Given the description of an element on the screen output the (x, y) to click on. 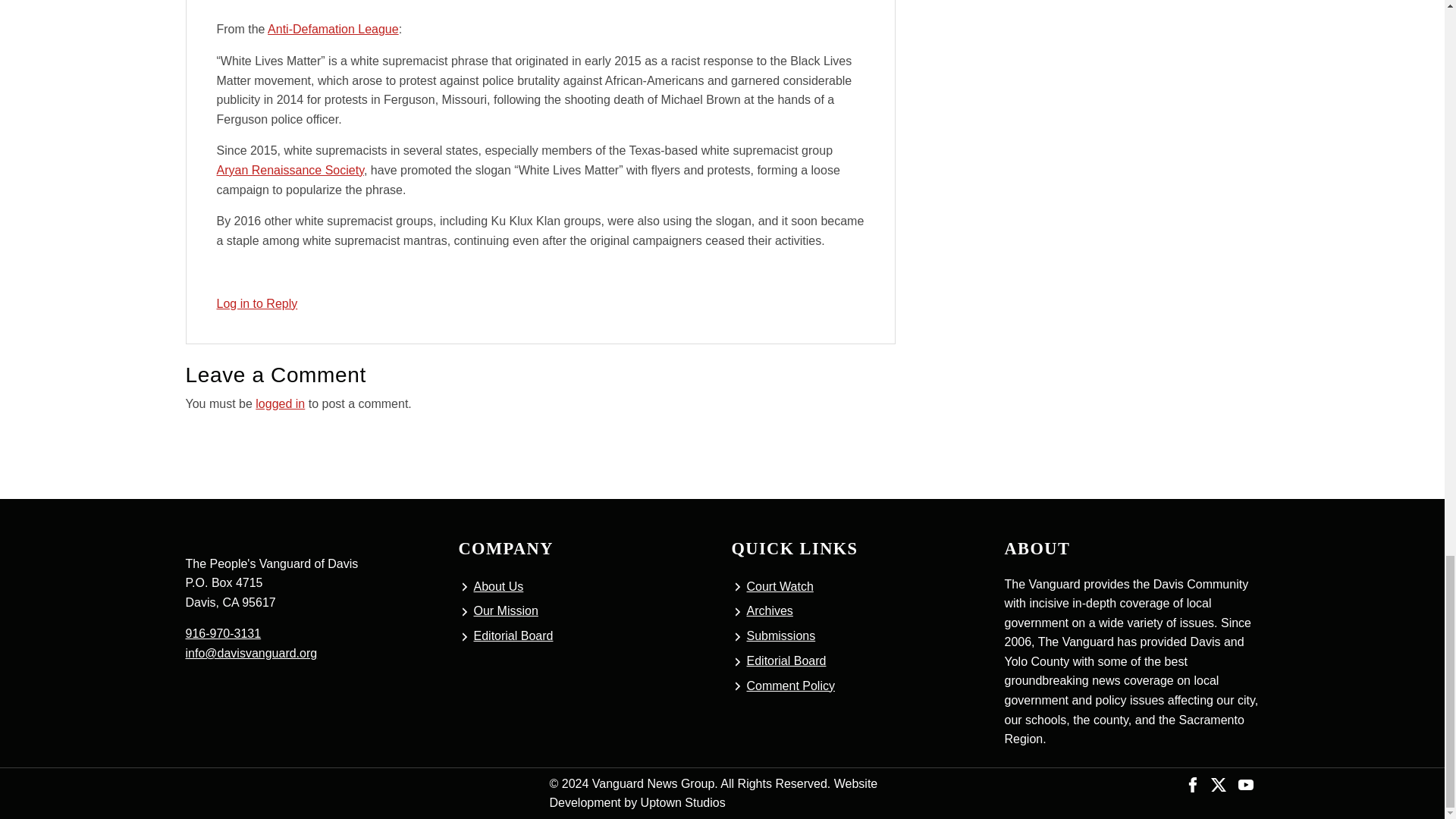
Twitter (1218, 783)
YouTube (1245, 783)
Facebook (1192, 783)
